Given the description of an element on the screen output the (x, y) to click on. 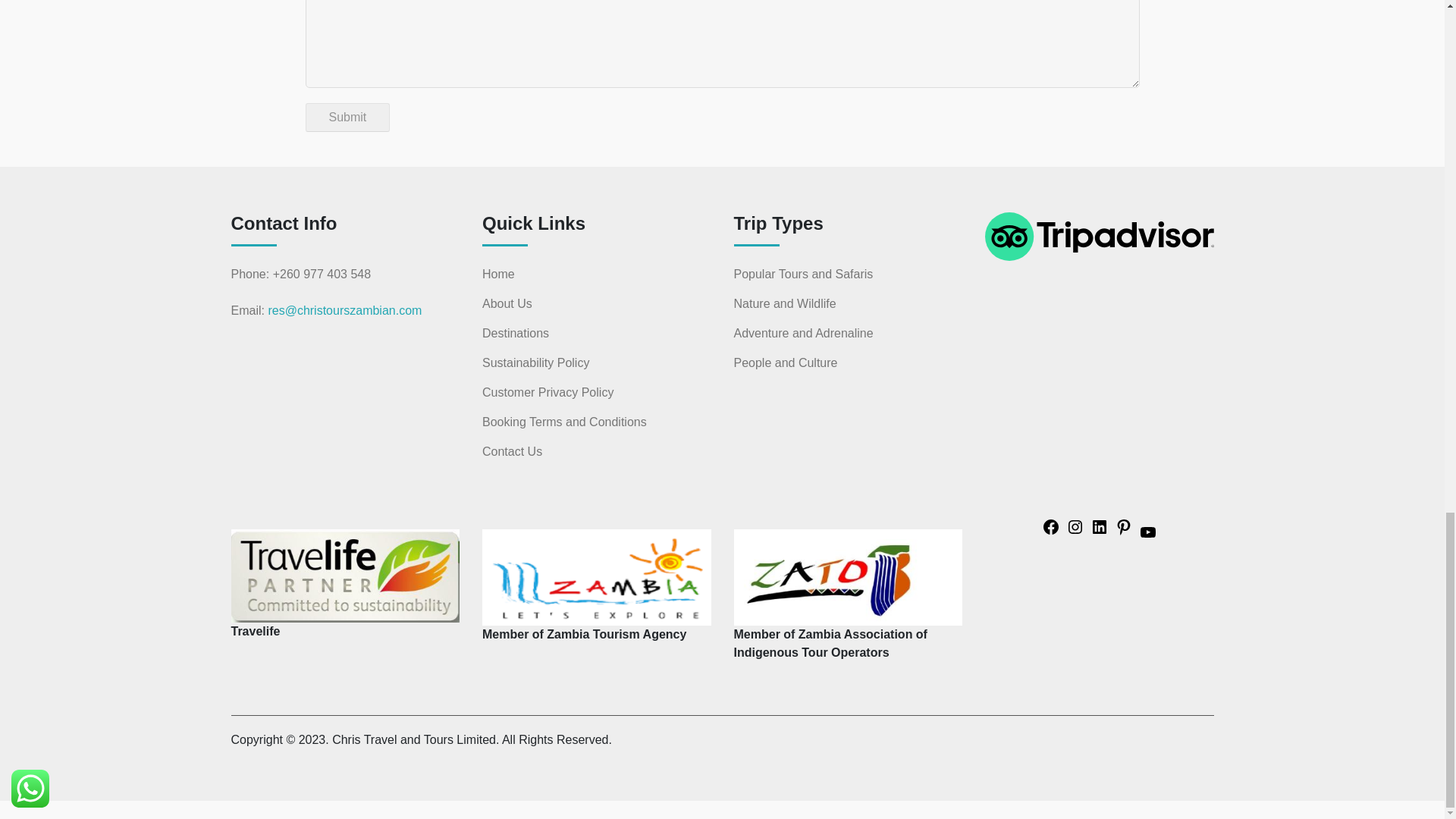
Customer Privacy Policy (546, 393)
Sustainability Policy (535, 362)
Contact Us (511, 452)
About Us (506, 303)
Submit (347, 117)
Booking Terms and Conditions (563, 422)
Destinations (514, 333)
Home (498, 274)
